Given the description of an element on the screen output the (x, y) to click on. 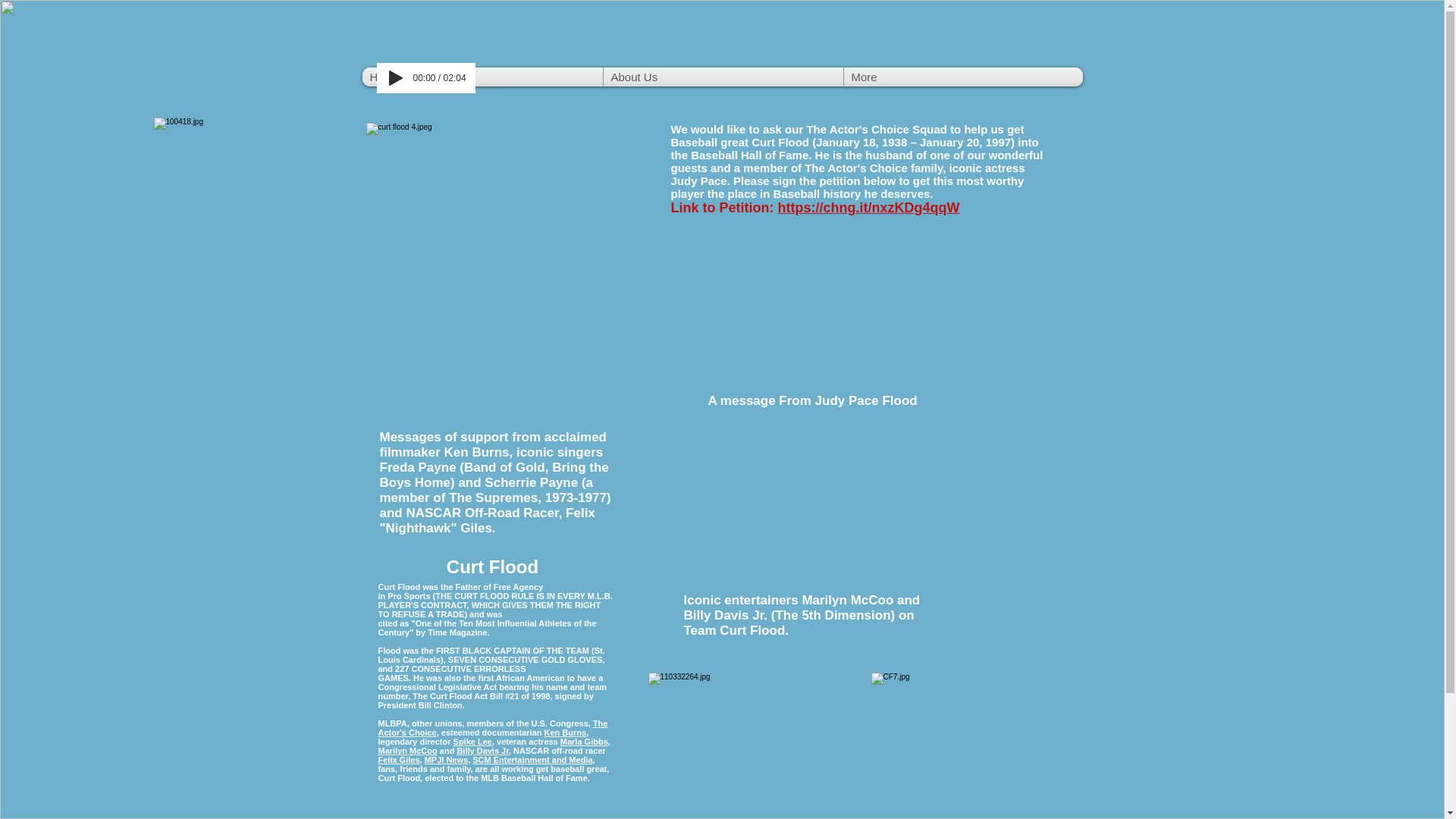
Curt Flood (780, 141)
Judy Pace (697, 180)
About Us (723, 76)
Home (482, 76)
Marla Gibbs (584, 741)
The Actor's Choice (492, 728)
MPJI News (446, 759)
Billy Davis Jr (482, 750)
Marilyn McCoo (406, 750)
Felix Giles (398, 759)
